Given the description of an element on the screen output the (x, y) to click on. 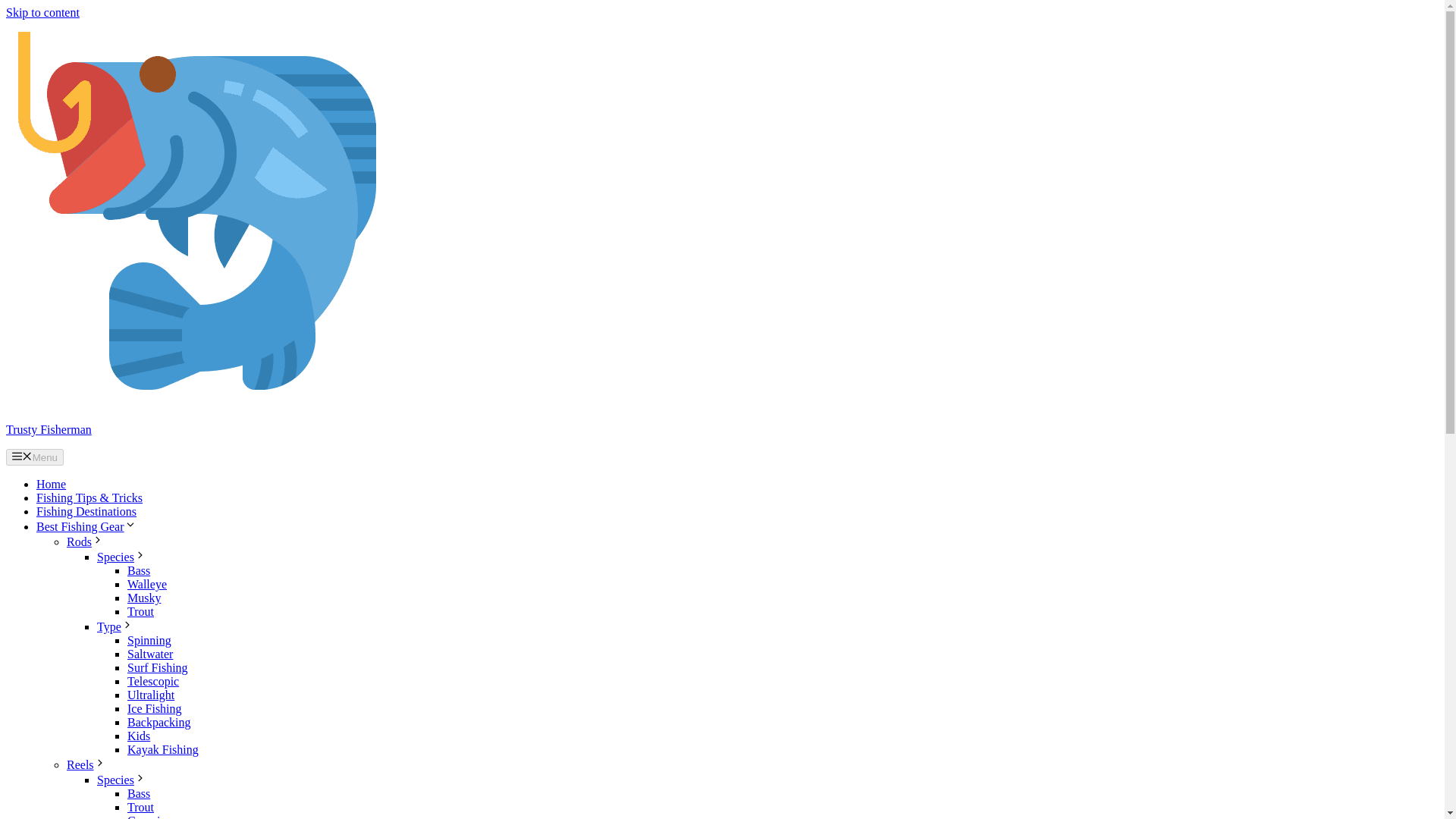
Backpacking (159, 721)
Bass (138, 570)
Bass (138, 793)
Crappie (146, 816)
Skip to content (42, 11)
Best Fishing Gear (86, 526)
Reels (86, 764)
Trout (141, 611)
Trout (141, 807)
Home (50, 483)
Spinning (149, 640)
Trusty Fisherman (199, 403)
Surf Fishing (157, 667)
Type (115, 626)
